Given the description of an element on the screen output the (x, y) to click on. 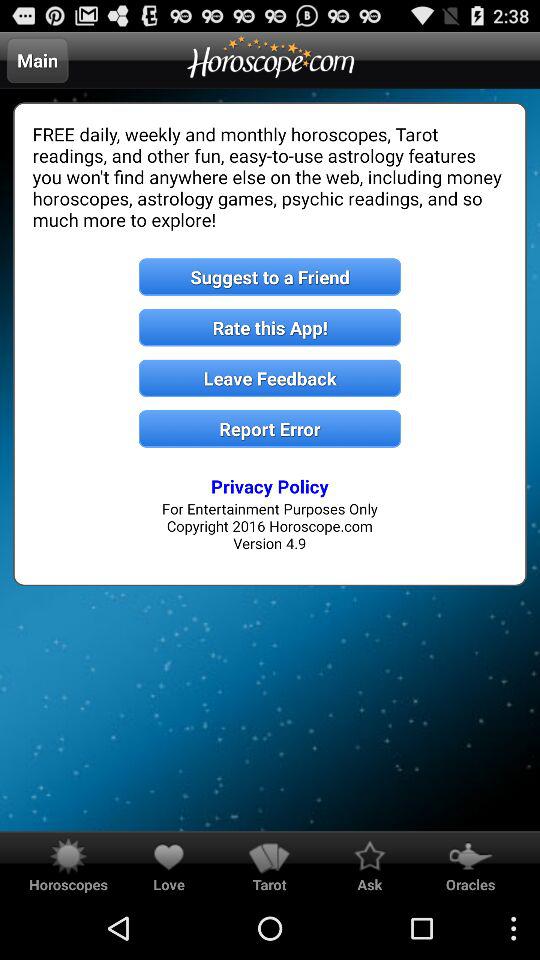
select the icon below leave feedback (269, 428)
